Given the description of an element on the screen output the (x, y) to click on. 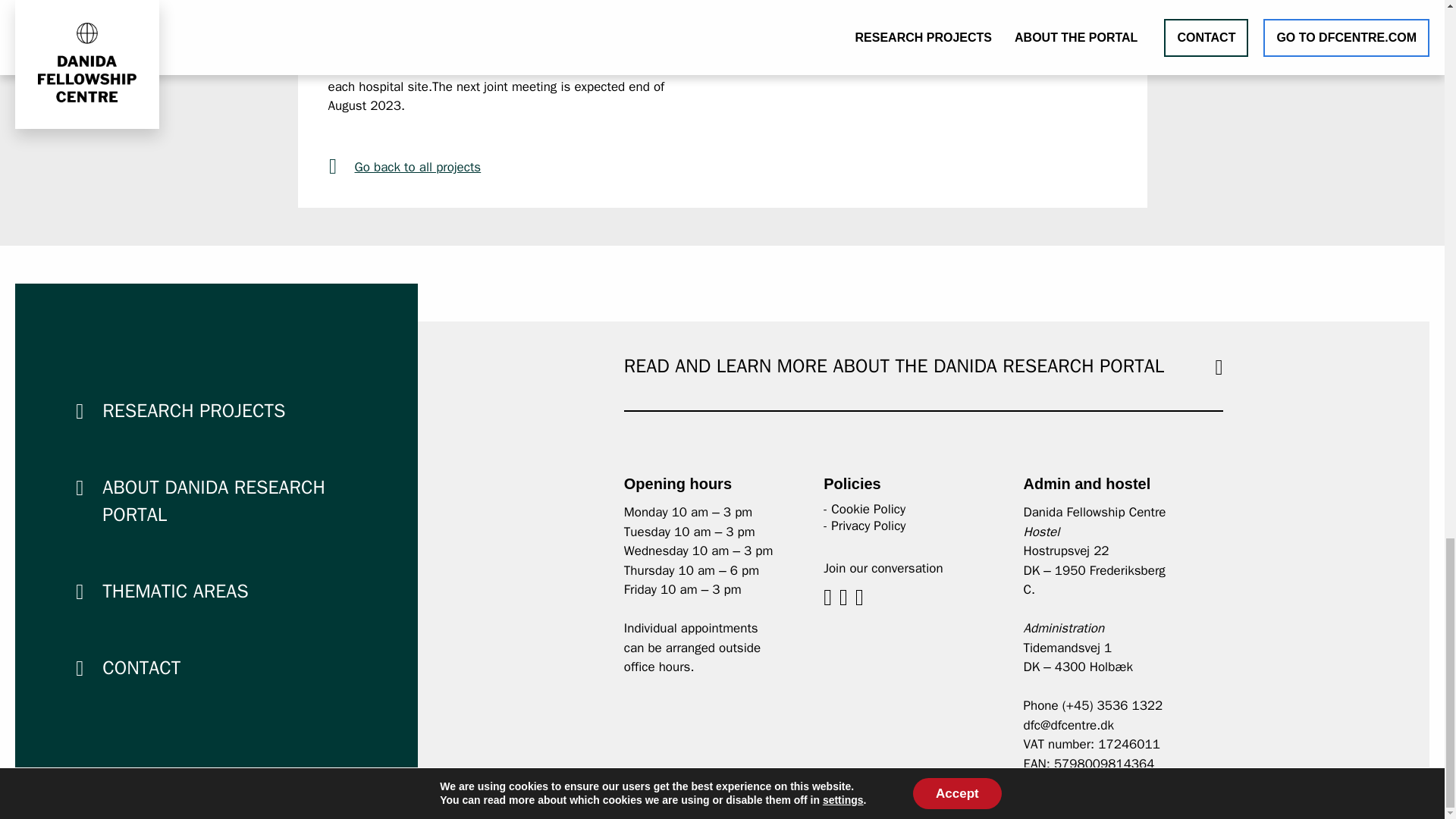
ABOUT DANIDA RESEARCH PORTAL (212, 500)
RESEARCH PROJECTS (193, 410)
CONTACT (140, 667)
Go back to all projects (516, 167)
Privacy Policy (868, 525)
READ AND LEARN MORE ABOUT THE DANIDA RESEARCH PORTAL (893, 364)
THEMATIC AREAS (174, 590)
Cookie Policy (868, 508)
